Given the description of an element on the screen output the (x, y) to click on. 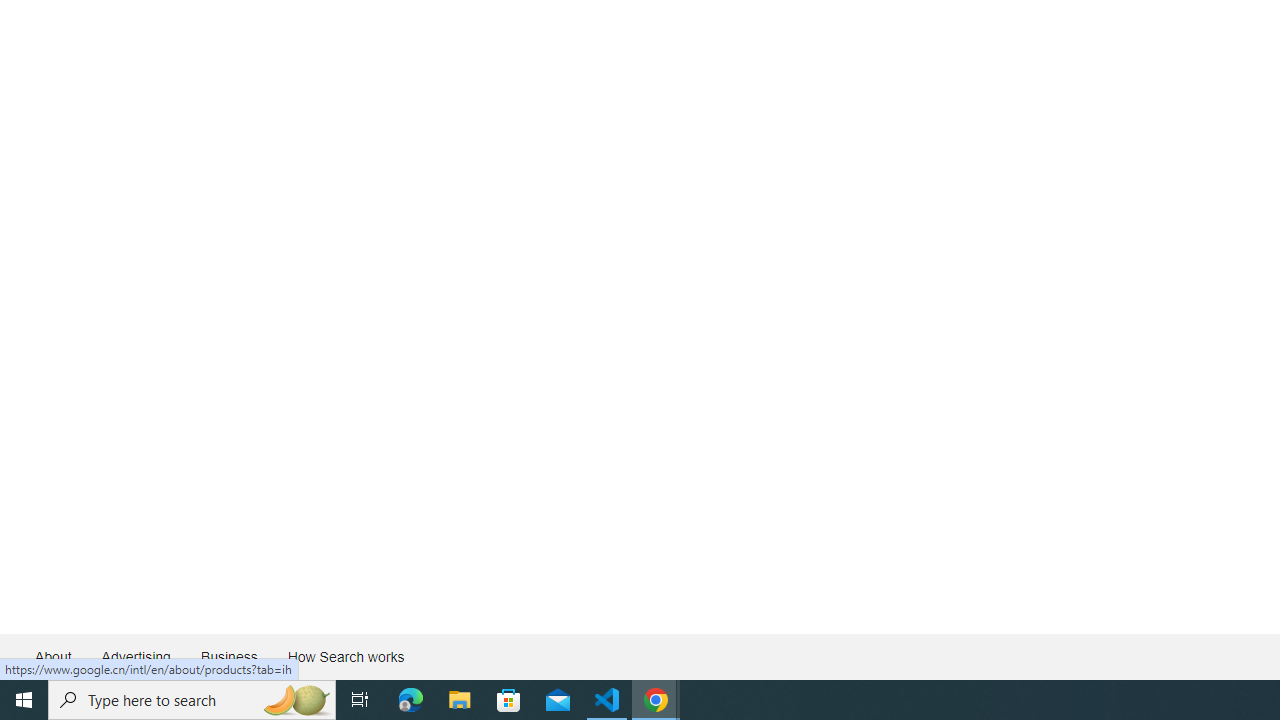
Business (228, 656)
How Search works (345, 656)
About (53, 656)
Advertising (135, 656)
